Given the description of an element on the screen output the (x, y) to click on. 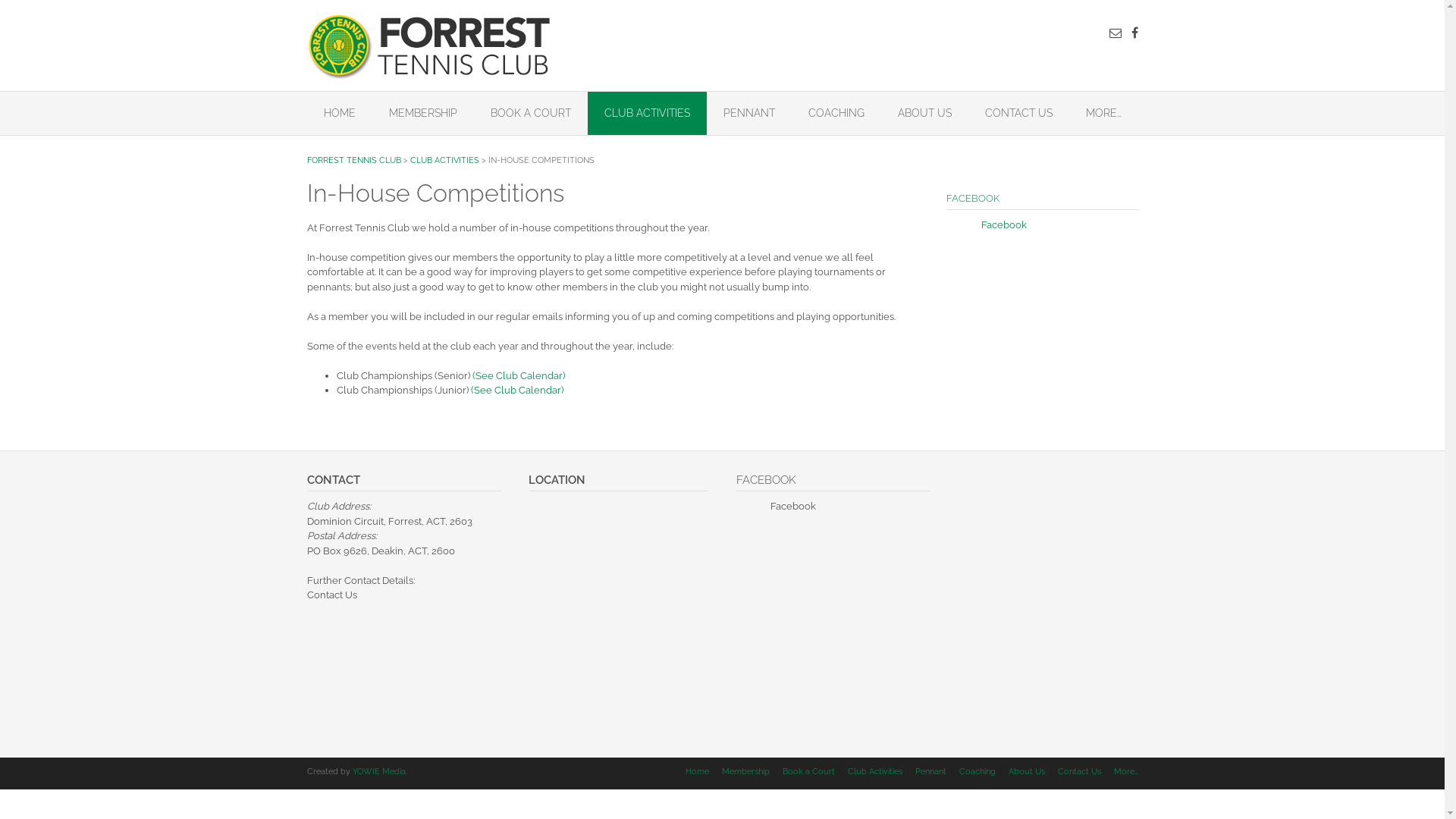
Forrest Tennis Club Element type: hover (430, 45)
(See Club Calendar) Element type: text (517, 375)
Club Activities Element type: text (873, 770)
ABOUT US Element type: text (924, 112)
MEMBERSHIP Element type: text (422, 112)
Send us an email Element type: hover (1114, 32)
Book a Court Element type: text (807, 770)
CLUB ACTIVITIES Element type: text (443, 160)
Home Element type: text (696, 770)
COACHING Element type: text (836, 112)
CONTACT US Element type: text (1017, 112)
BOOK A COURT Element type: text (529, 112)
Find us on Facebook Element type: hover (1134, 32)
About Us Element type: text (1025, 770)
FACEBOOK Element type: text (972, 197)
Membership Element type: text (744, 770)
Contact Us Element type: text (331, 594)
YOWIE Media Element type: text (377, 770)
Coaching Element type: text (977, 770)
(See Club Calendar) Element type: text (516, 389)
FORREST TENNIS CLUB Element type: text (353, 160)
FACEBOOK Element type: text (765, 479)
HOME Element type: text (338, 112)
Facebook Element type: text (792, 505)
Pennant Element type: text (930, 770)
PENNANT Element type: text (748, 112)
Contact Us Element type: text (1079, 770)
Facebook Element type: text (1003, 224)
CLUB ACTIVITIES Element type: text (646, 112)
